Given the description of an element on the screen output the (x, y) to click on. 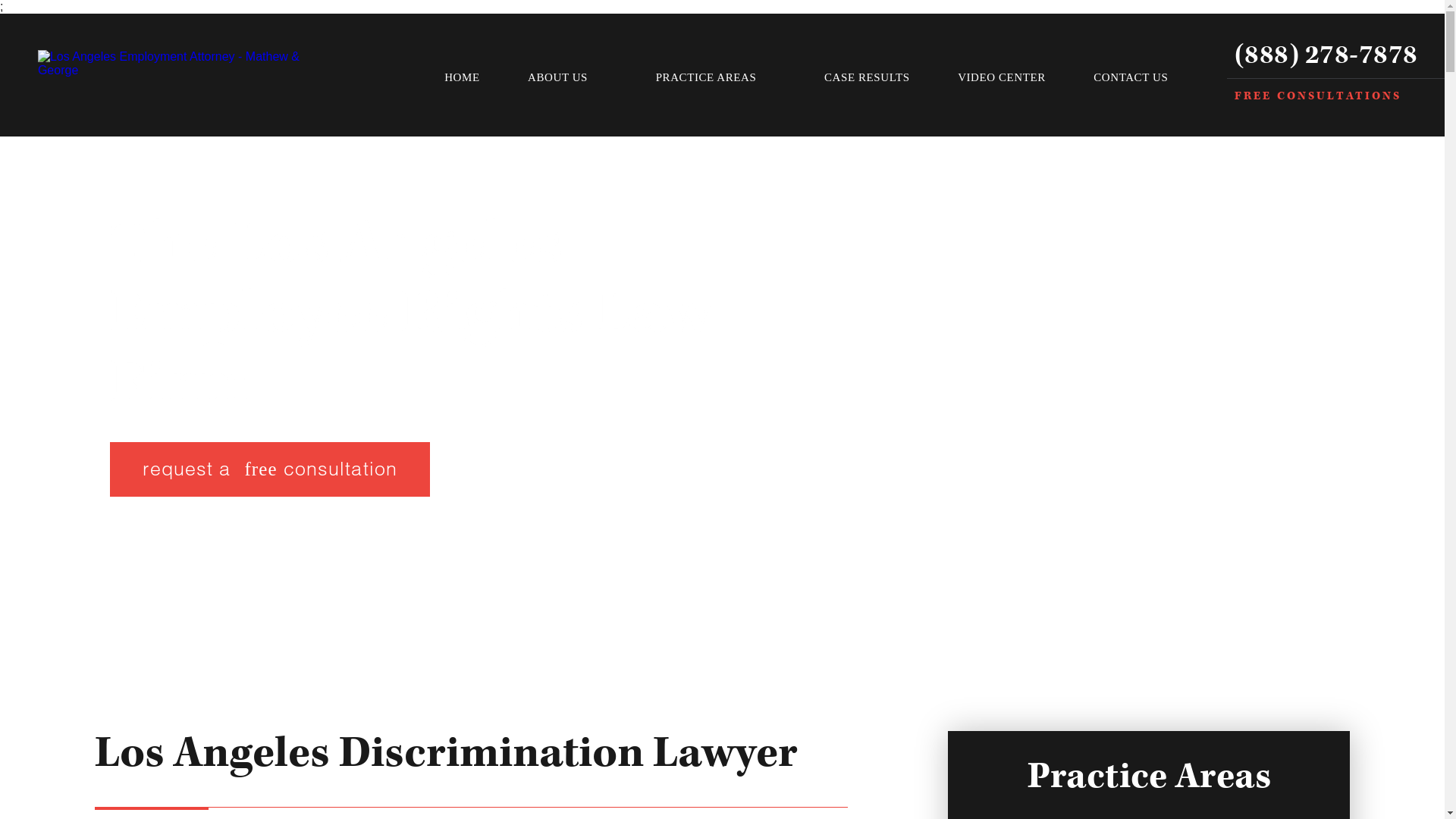
ABOUT US (566, 77)
CASE RESULTS (866, 77)
HOME (461, 77)
VIDEO CENTER (1001, 77)
CONTACT US (1130, 77)
PRACTICE AREAS (715, 77)
request a free consultation (269, 468)
